Given the description of an element on the screen output the (x, y) to click on. 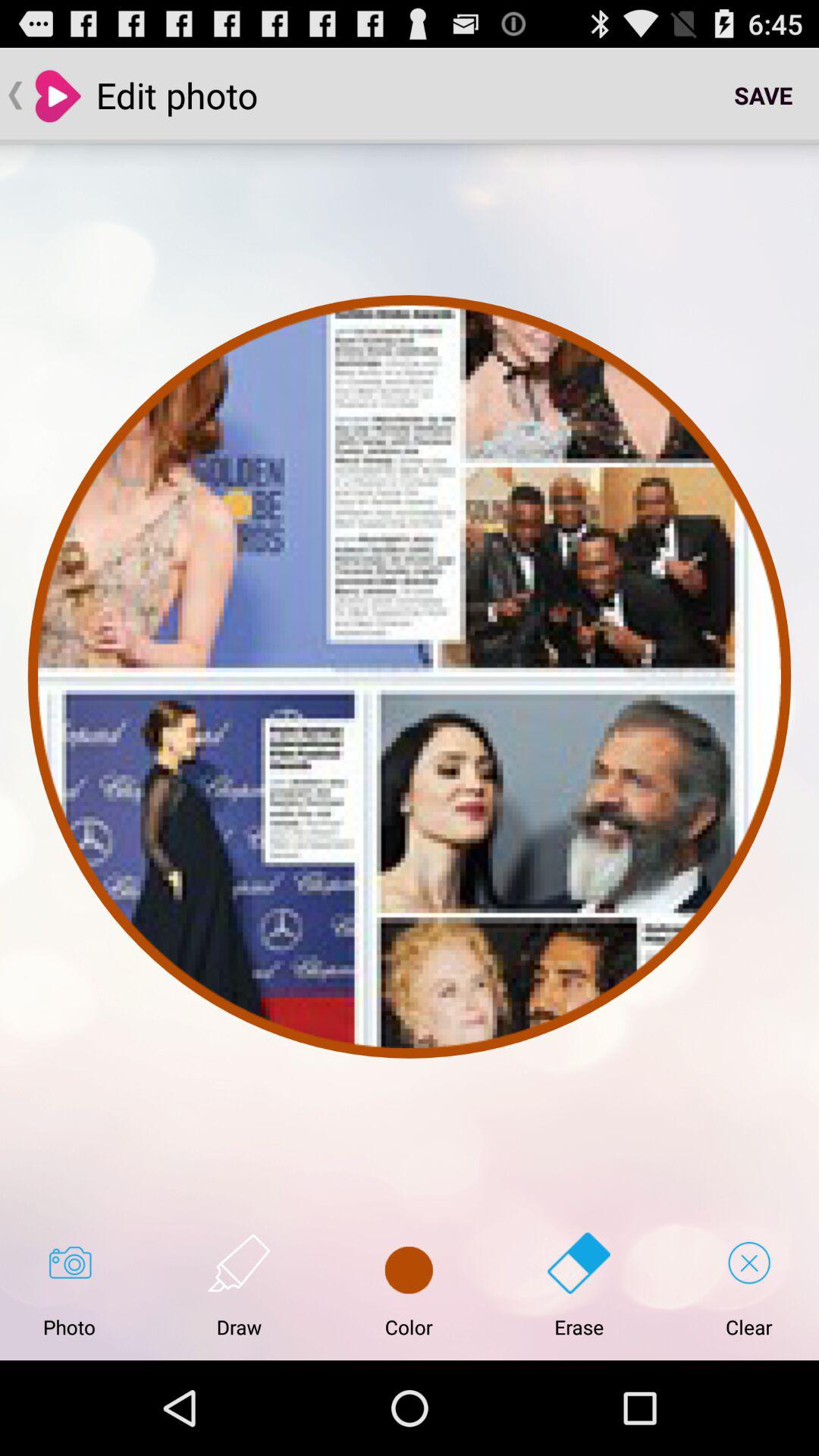
turn off icon to the right of edit photo icon (763, 95)
